Given the description of an element on the screen output the (x, y) to click on. 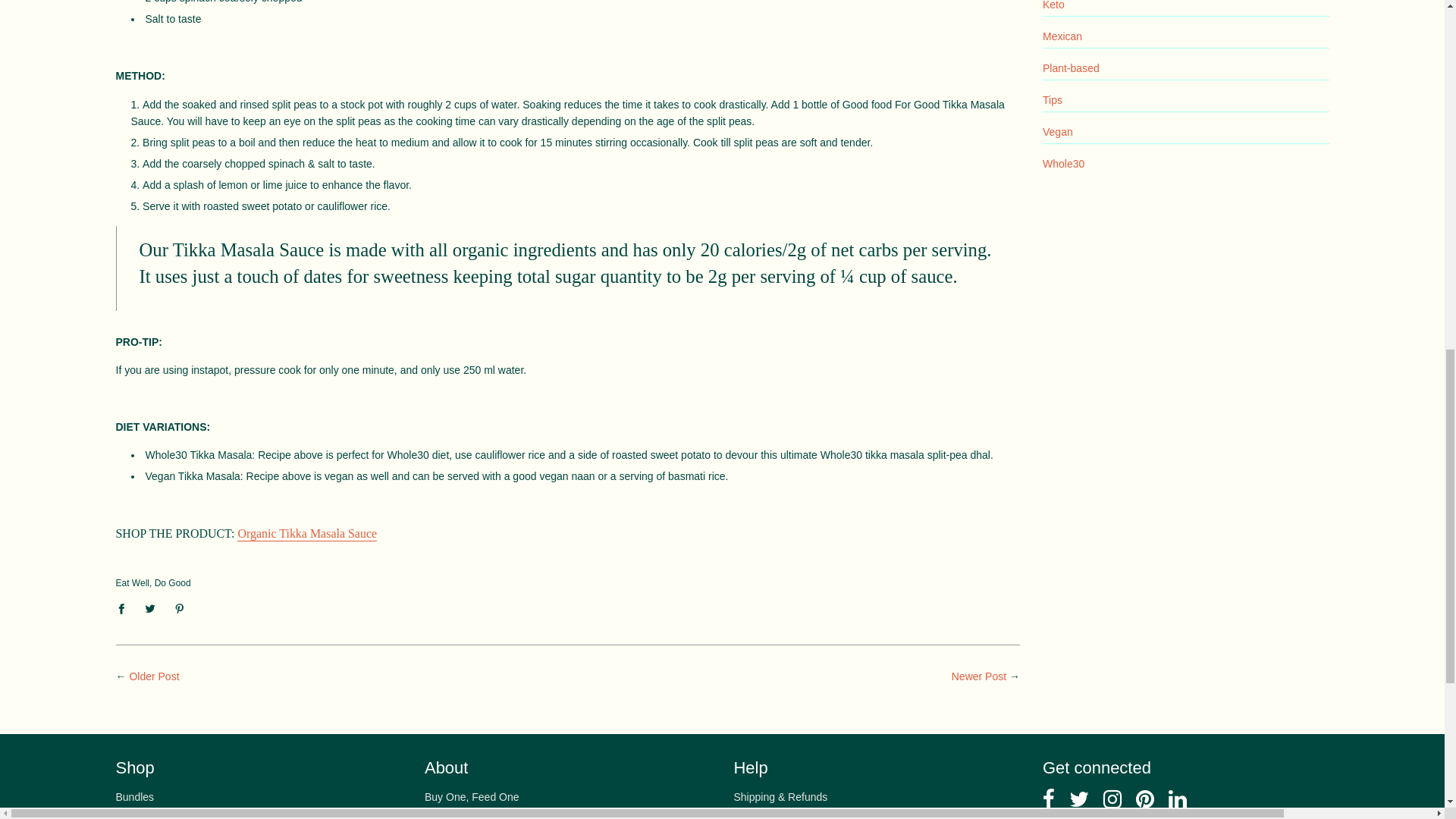
Buy Tikka Masala Sauce (307, 534)
Show articles tagged Plant-based (1070, 68)
Show articles tagged Tips (1052, 100)
Show articles tagged Keto (1053, 5)
Show articles tagged Whole30 (1063, 163)
Show articles tagged Mexican (1061, 36)
Show articles tagged Vegan (1057, 132)
